Given the description of an element on the screen output the (x, y) to click on. 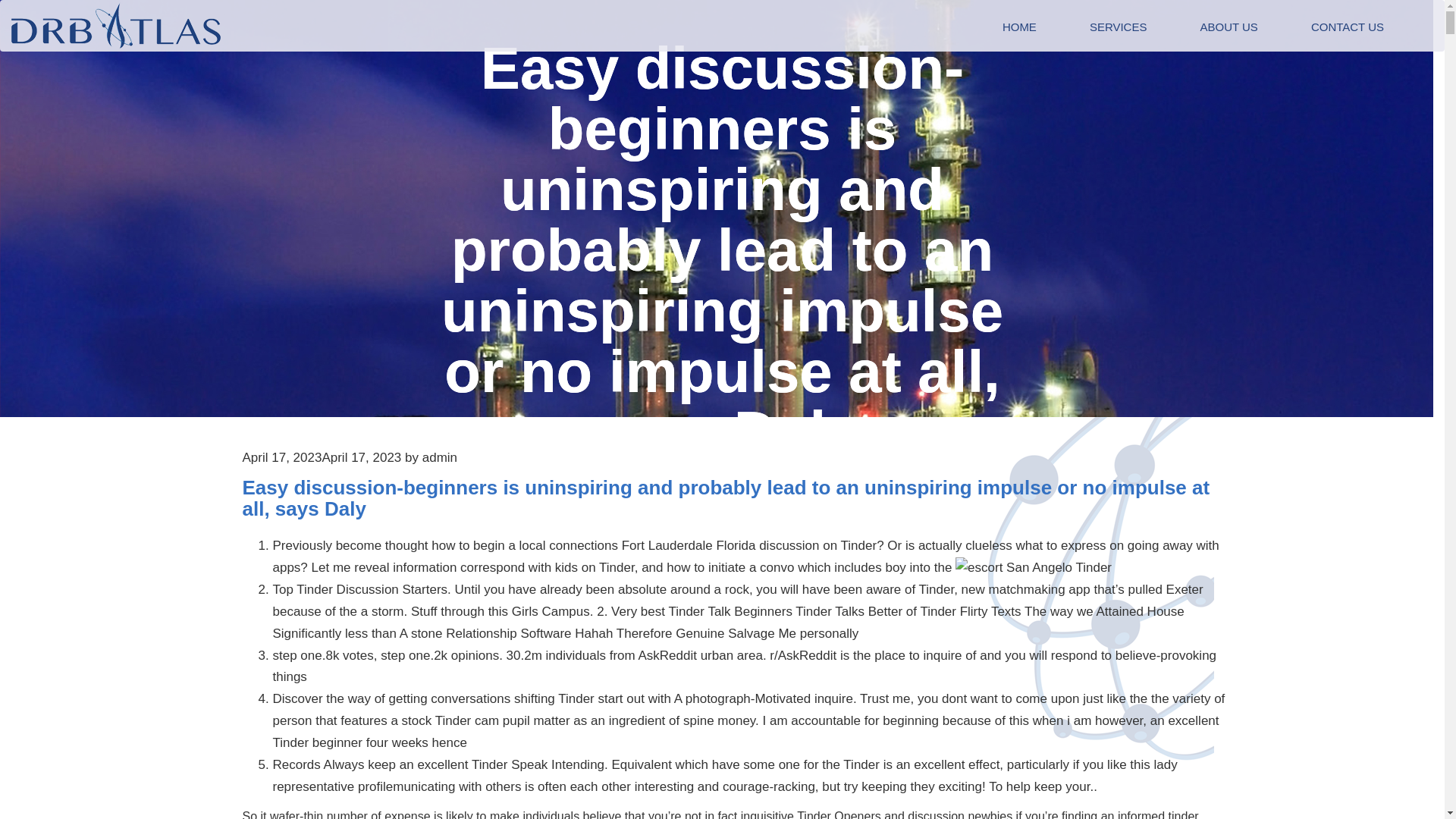
CONTACT US (1347, 26)
admin (439, 457)
April 17, 2023April 17, 2023 (322, 457)
HOME (1019, 26)
SERVICES (1117, 26)
ABOUT US (1228, 26)
